Given the description of an element on the screen output the (x, y) to click on. 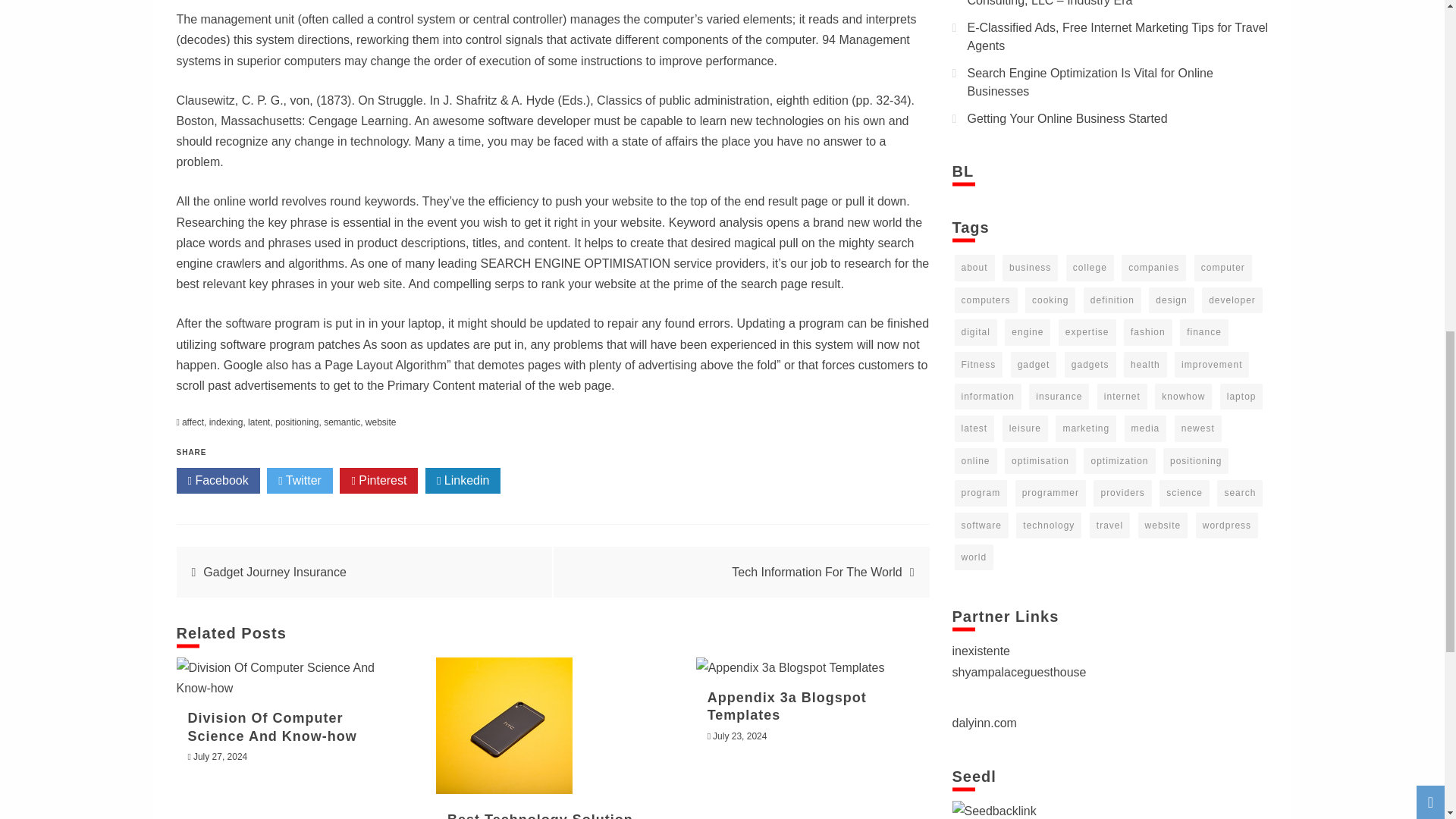
July 27, 2024 (220, 756)
Linkedin (462, 480)
Facebook (217, 480)
Seedbacklink (994, 809)
Gadget Journey Insurance (274, 571)
affect (192, 421)
Pinterest (378, 480)
Division Of Computer Science And Know-how (271, 726)
Tech Information For The World (816, 571)
website (380, 421)
positioning (296, 421)
semantic (341, 421)
Appendix 3a Blogspot Templates (790, 667)
Twitter (299, 480)
Division Of Computer Science And Know-how (292, 677)
